Given the description of an element on the screen output the (x, y) to click on. 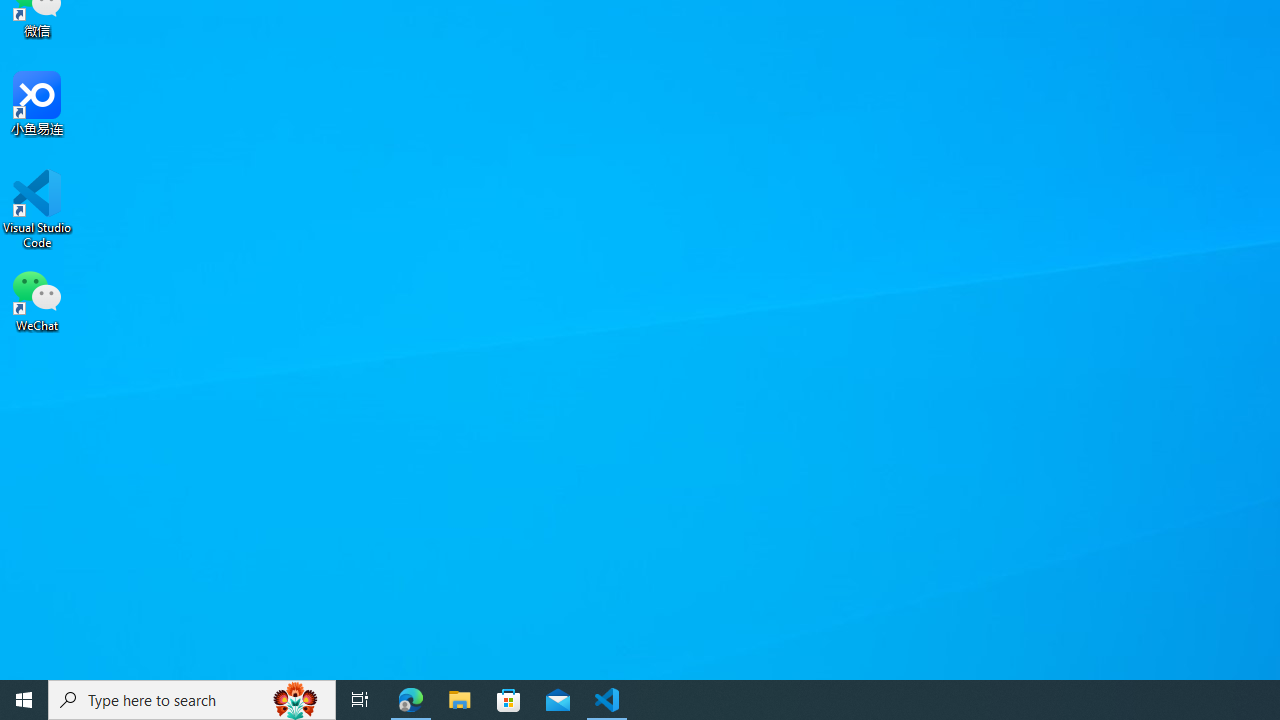
Visual Studio Code (37, 209)
WeChat (37, 299)
